Given the description of an element on the screen output the (x, y) to click on. 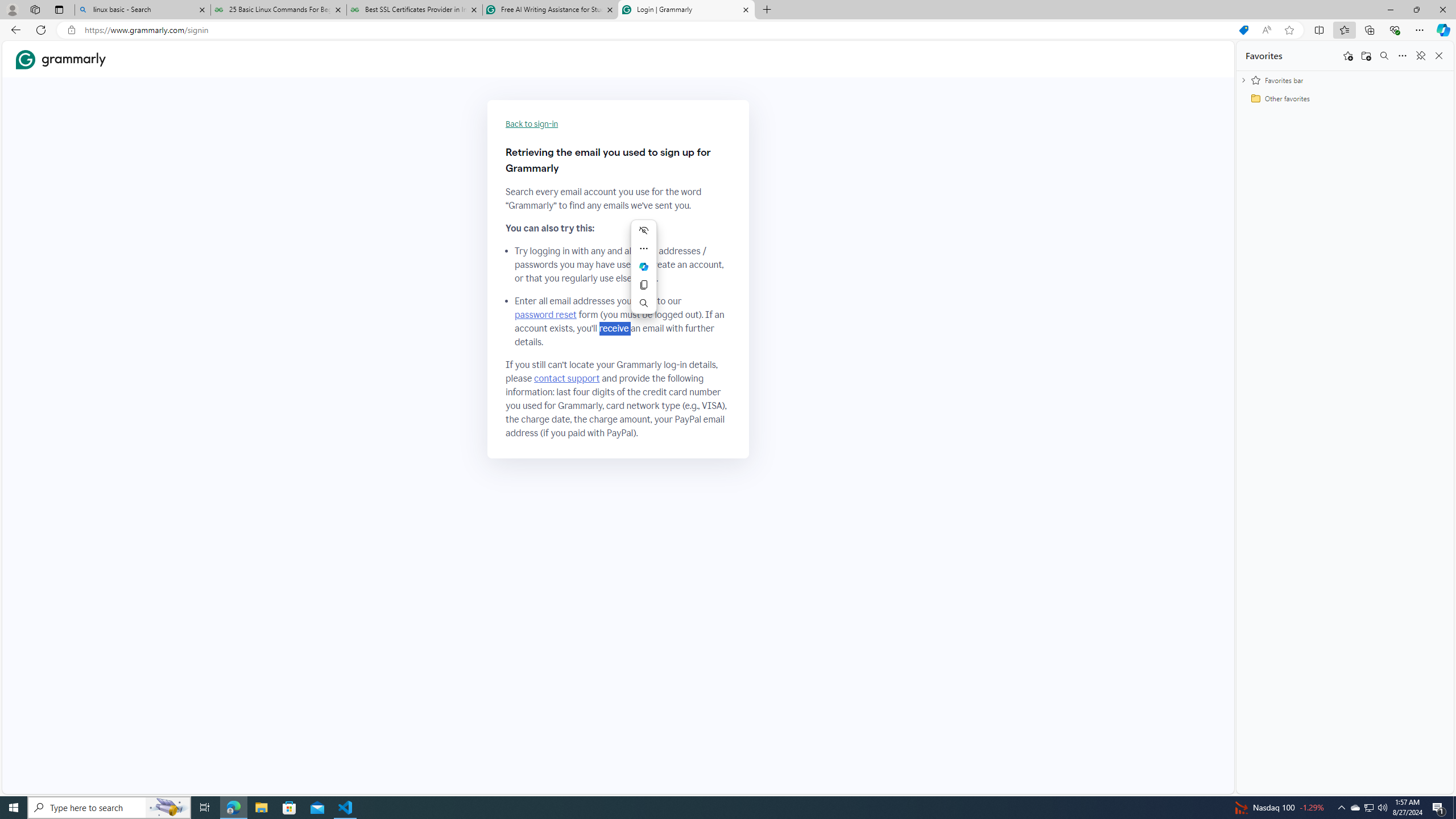
linux basic - Search (142, 9)
